Given the description of an element on the screen output the (x, y) to click on. 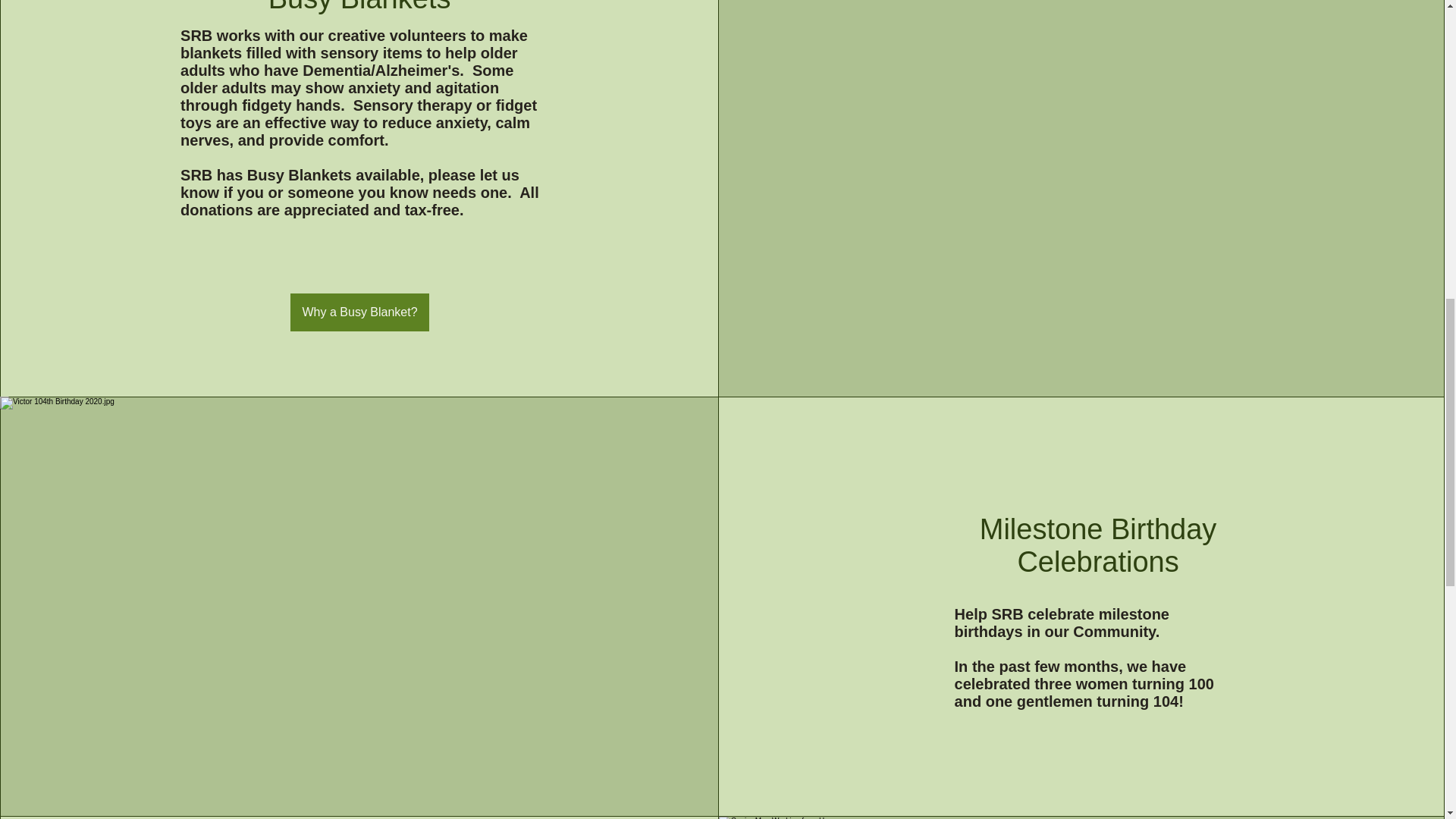
Why a Busy Blanket? (359, 312)
